Given the description of an element on the screen output the (x, y) to click on. 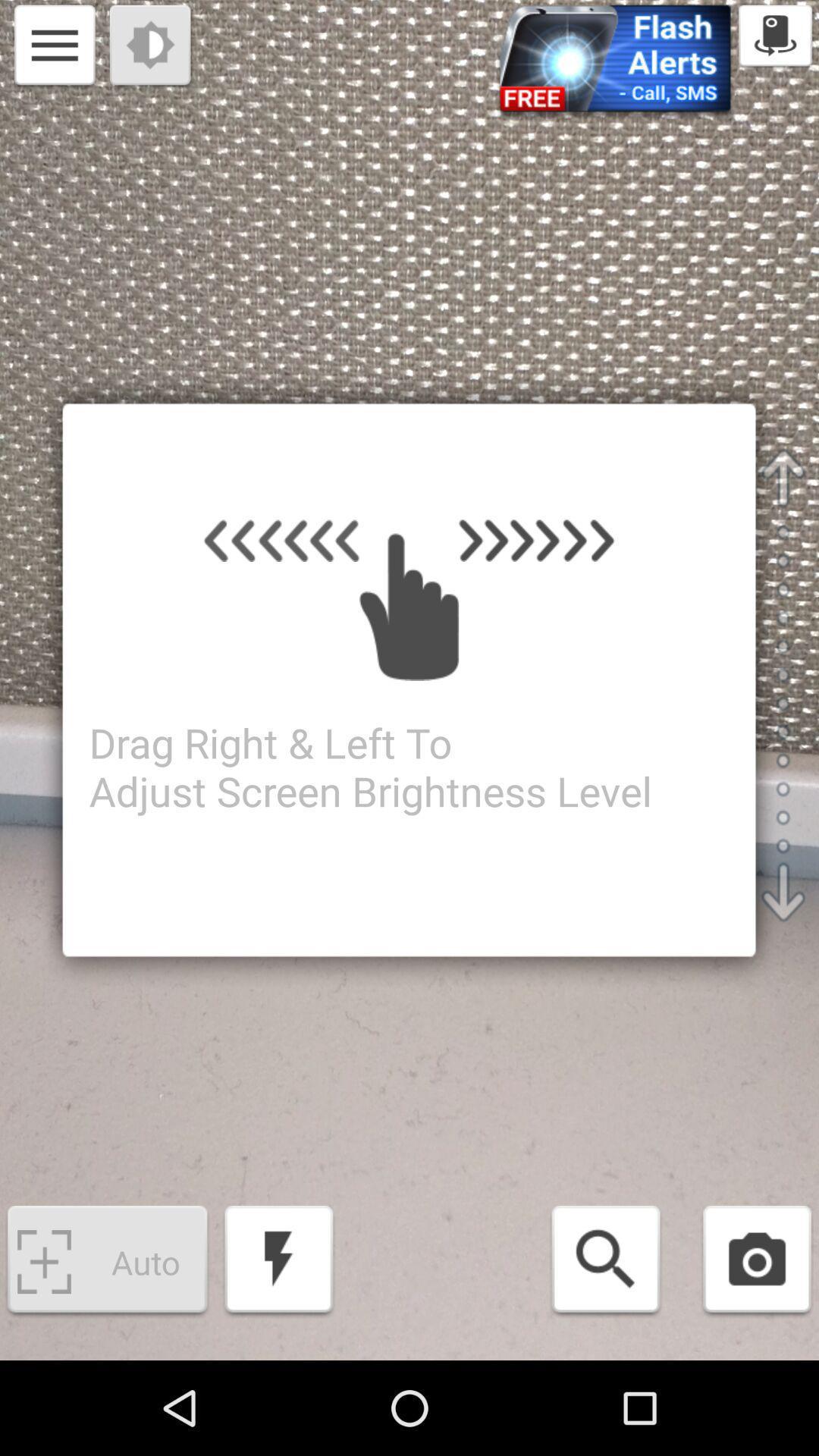
select the button at the bottom (278, 1261)
